Given the description of an element on the screen output the (x, y) to click on. 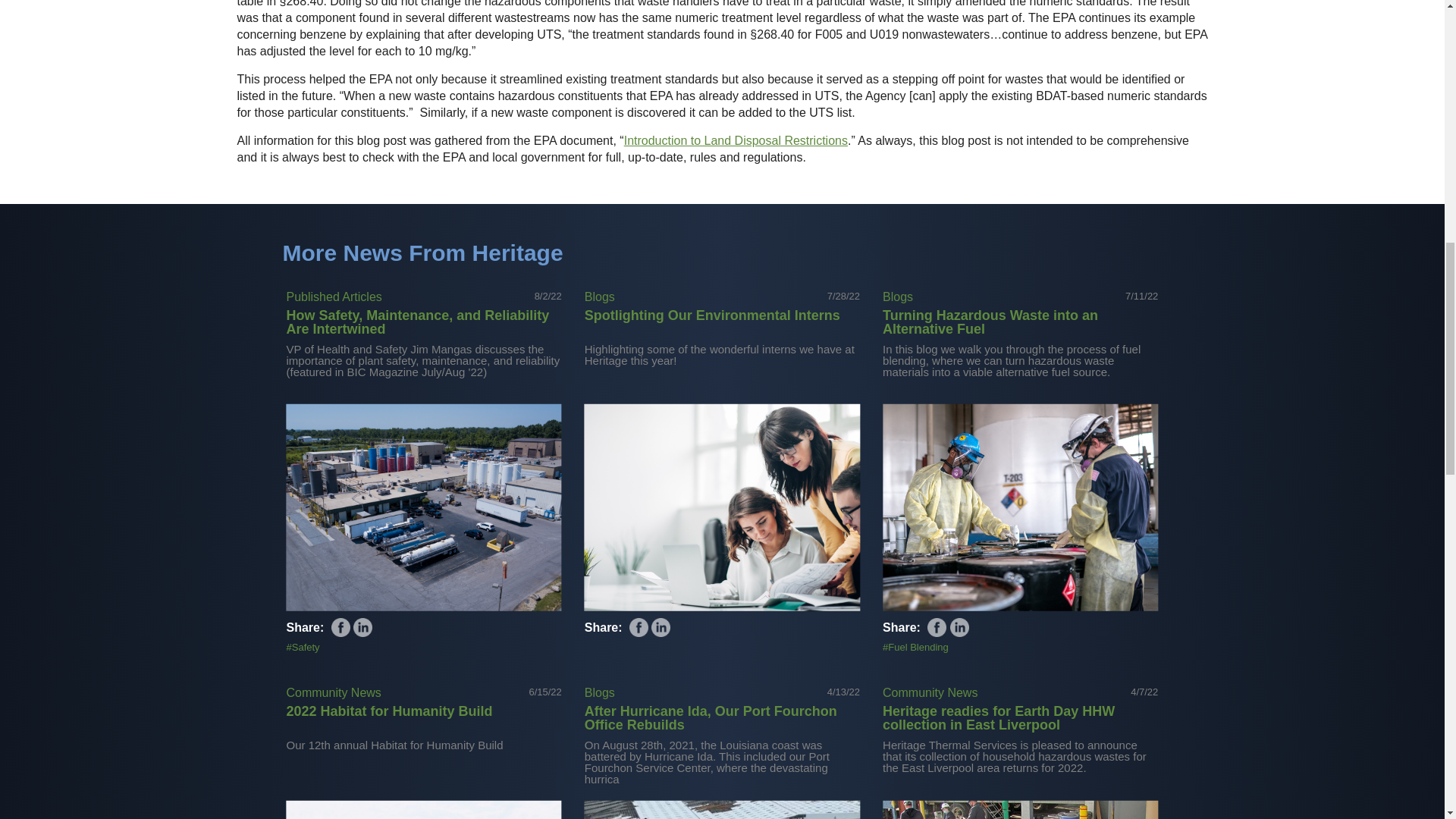
2022 Habitat for Humanity Build (389, 711)
Spotlighting Our Environmental Interns (712, 314)
Share on LinkedIn (959, 627)
Community News (333, 692)
Turning Hazardous Waste into an Alternative Fuel (989, 321)
Introduction to Land Disposal Restrictions (735, 140)
How Safety, Maintenance, and Reliability Are Intertwined (418, 321)
Published Articles (333, 296)
Share on Facebook (936, 627)
Share on LinkedIn (659, 627)
Share on Facebook (340, 627)
Blogs (599, 296)
Blogs (897, 296)
Share on Facebook (637, 627)
